Given the description of an element on the screen output the (x, y) to click on. 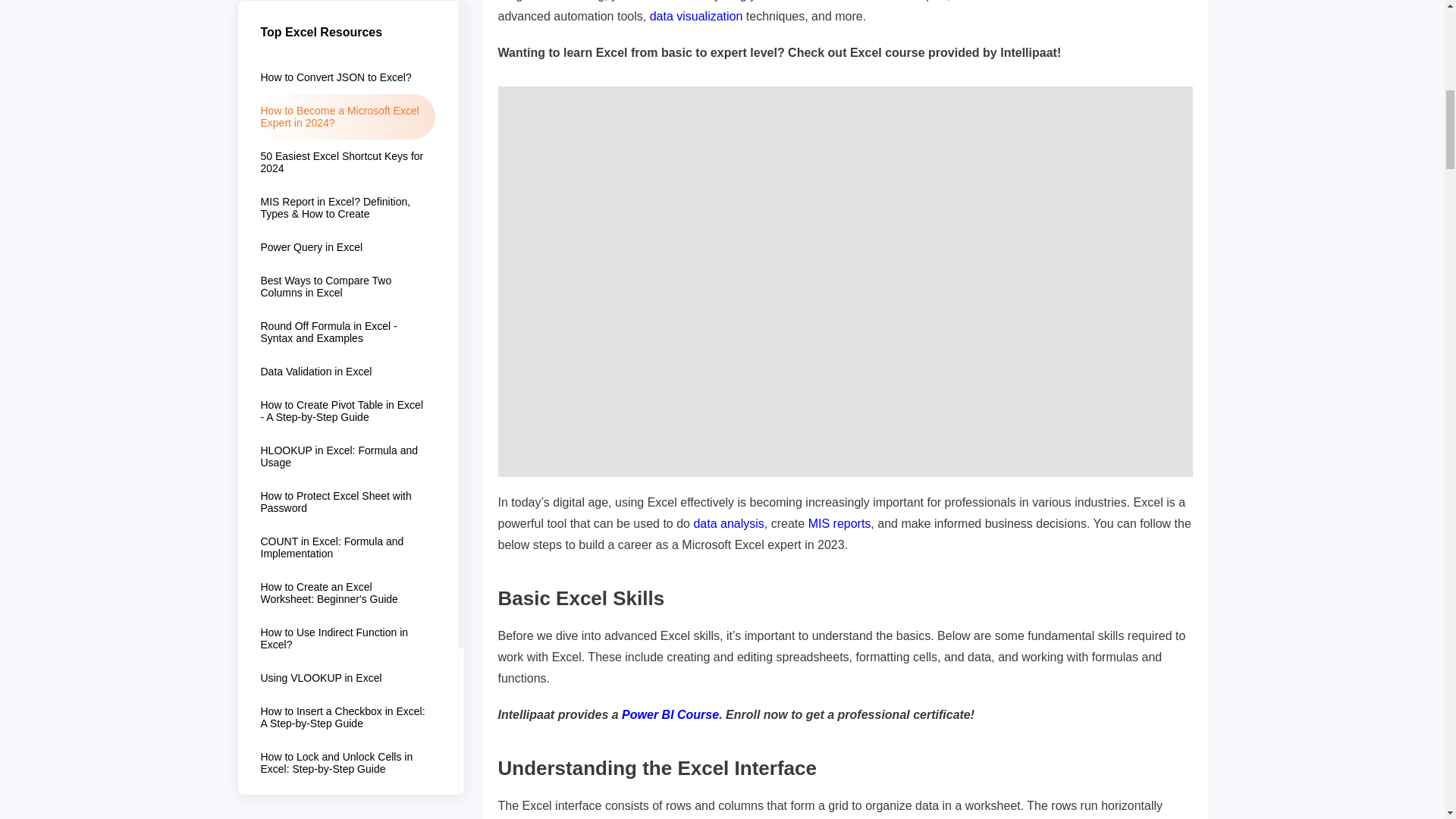
How to Remove Duplicates in Excel? (347, 169)
How to Lock and Unlock Cells in Excel: Step-by-Step Guide (347, 78)
Top 40 Excel Formulas Mandatory for You (347, 124)
Understanding Macros in Excel with Example (347, 215)
How to Insert a Checkbox in Excel: A Step-by-Step Guide (347, 33)
Excel Interview Questions (347, 254)
Using VLOOKUP in Excel (347, 5)
